Given the description of an element on the screen output the (x, y) to click on. 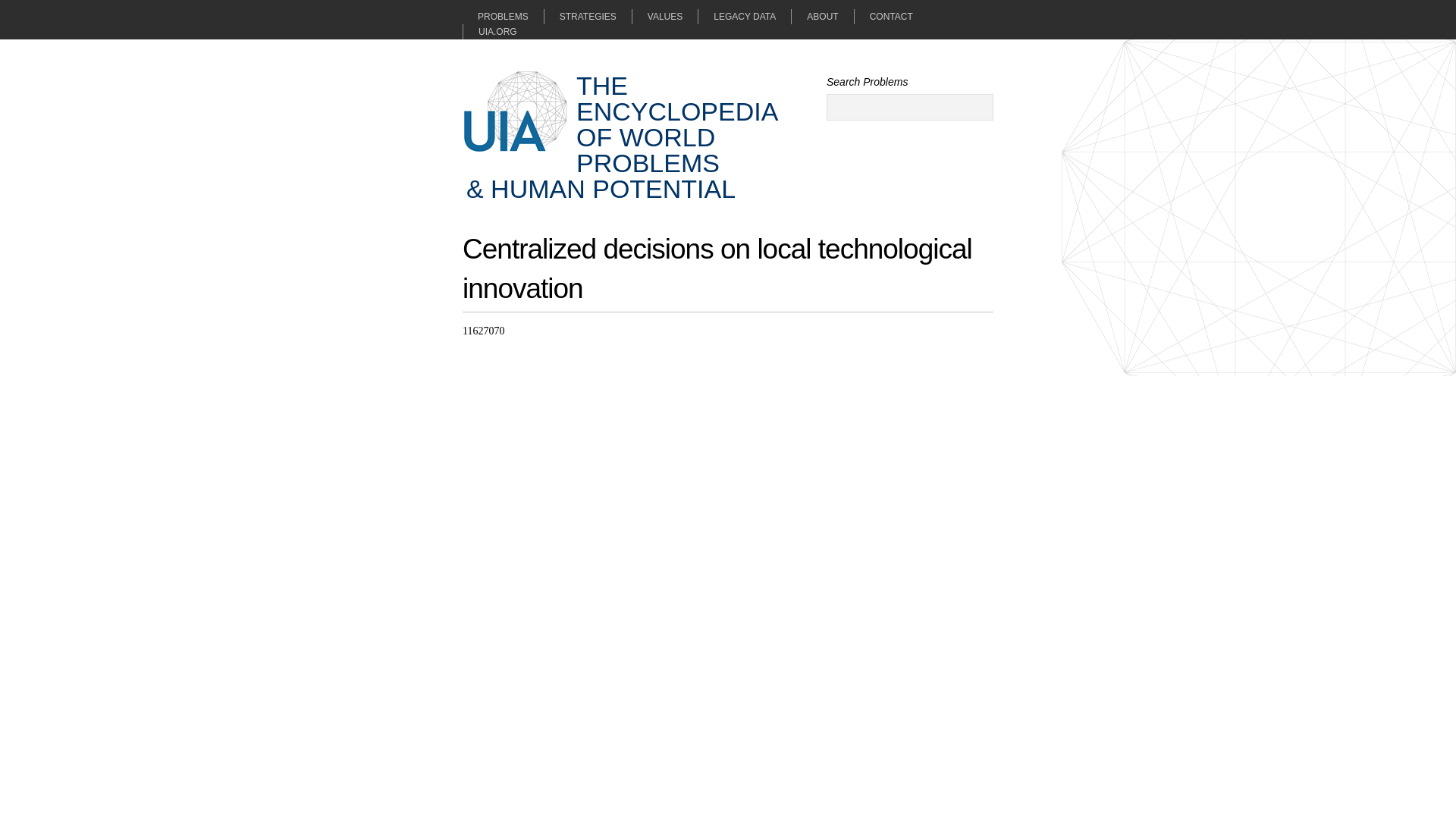
CONTACT (890, 16)
Home (516, 110)
Contact us (890, 16)
ABOUT (821, 16)
Home (621, 135)
UIA.ORG (489, 31)
PROBLEMS (503, 16)
VALUES (664, 16)
LEGACY DATA (743, 16)
STRATEGIES (587, 16)
